Given the description of an element on the screen output the (x, y) to click on. 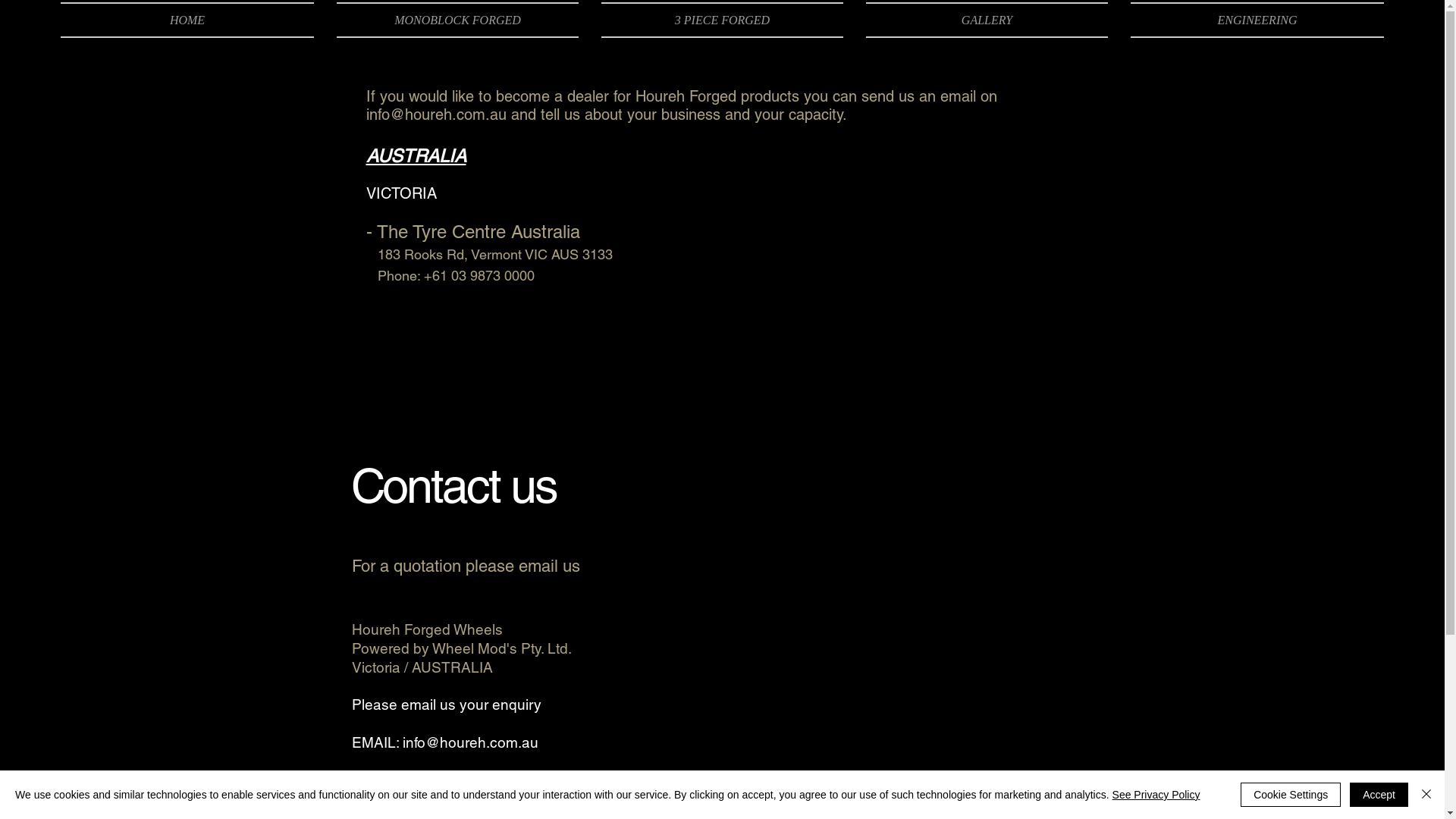
info@houreh.com.au Element type: text (435, 114)
MONOBLOCK FORGED Element type: text (457, 19)
GALLERY Element type: text (986, 19)
3 PIECE FORGED Element type: text (721, 19)
info@houreh.com.au Element type: text (469, 742)
HOME Element type: text (192, 19)
ENGINEERING Element type: text (1251, 19)
Cookie Settings Element type: text (1290, 794)
Accept Element type: text (1378, 794)
See Privacy Policy Element type: text (1156, 794)
